Given the description of an element on the screen output the (x, y) to click on. 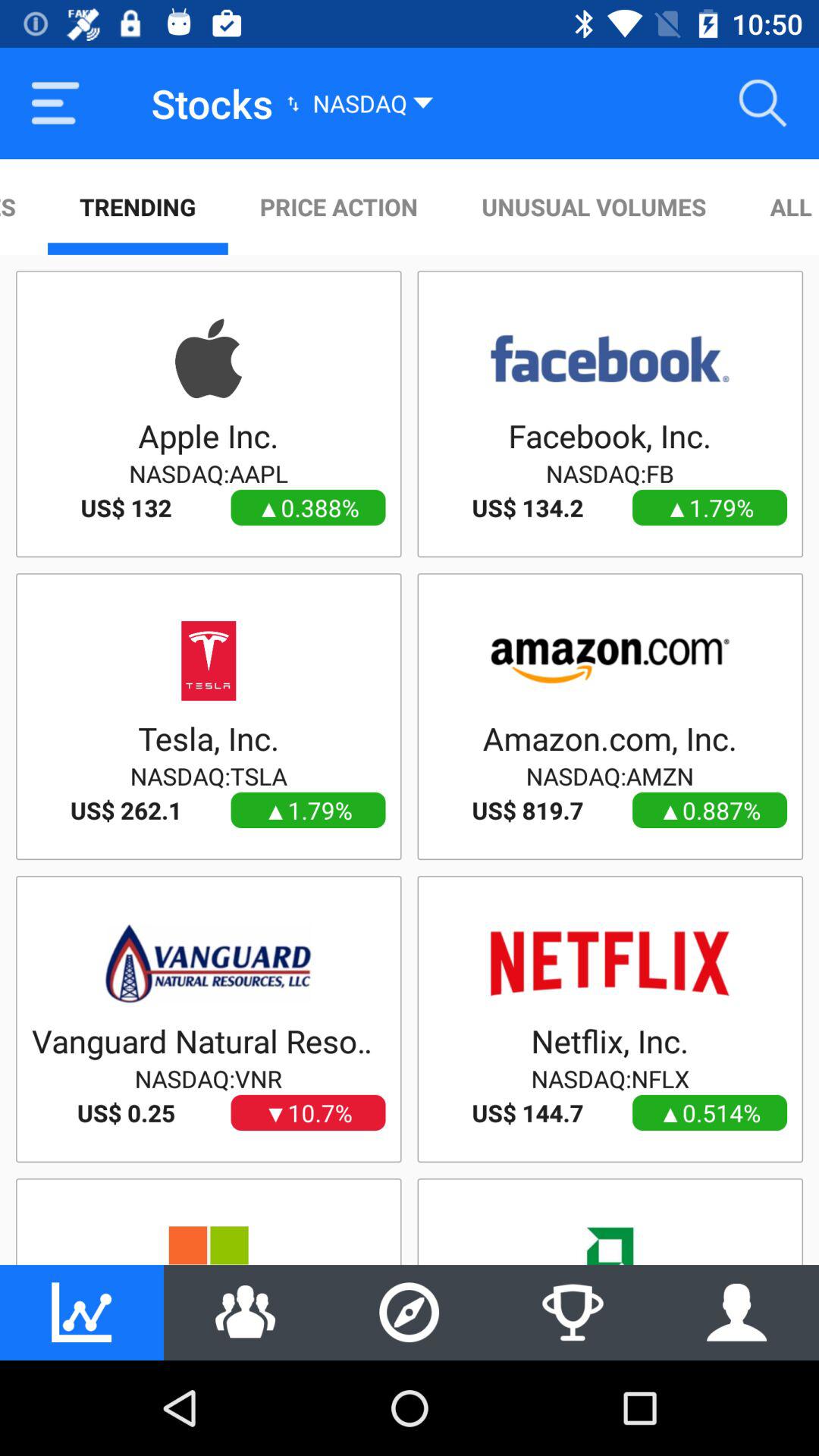
select the item above the favourites item (55, 103)
